Given the description of an element on the screen output the (x, y) to click on. 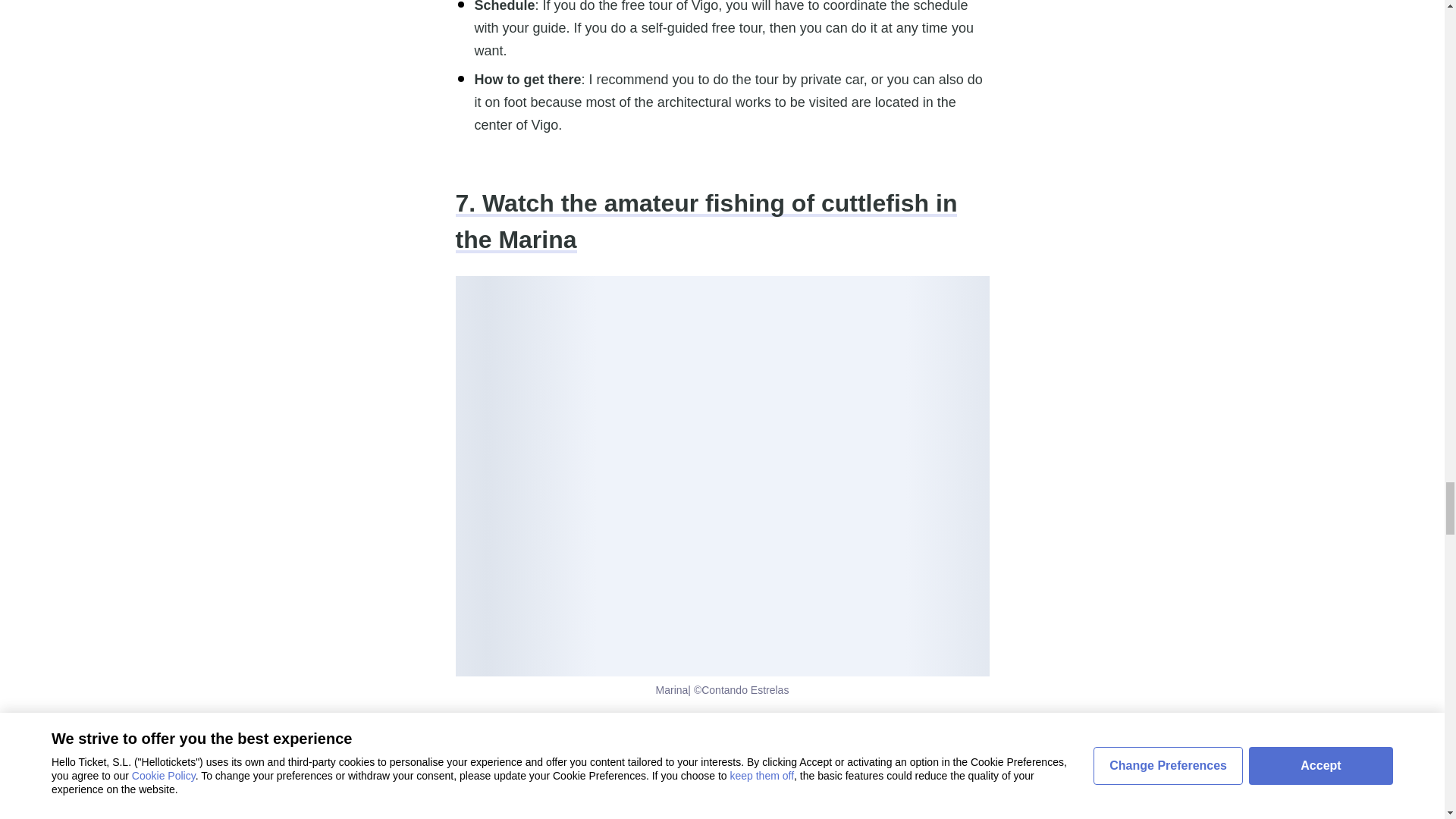
Real Club Nautico (636, 725)
